Given the description of an element on the screen output the (x, y) to click on. 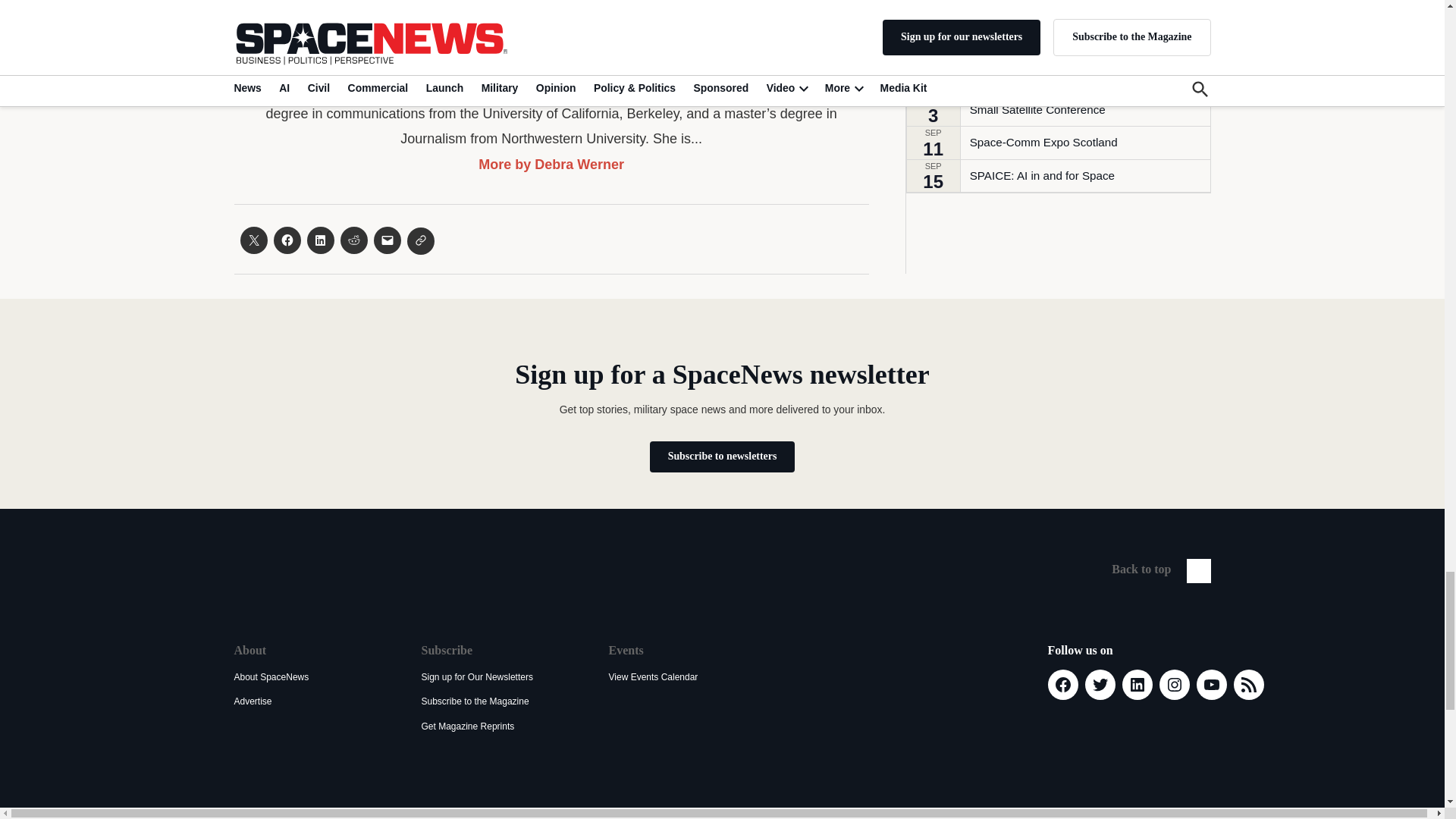
twitter (241, 56)
Click to share on X (253, 239)
Click to share on Reddit (352, 239)
Click to share on Facebook (286, 239)
Click to email a link to a friend (386, 239)
Click to share on LinkedIn (319, 239)
Click to share on Clipboard (419, 240)
